Given the description of an element on the screen output the (x, y) to click on. 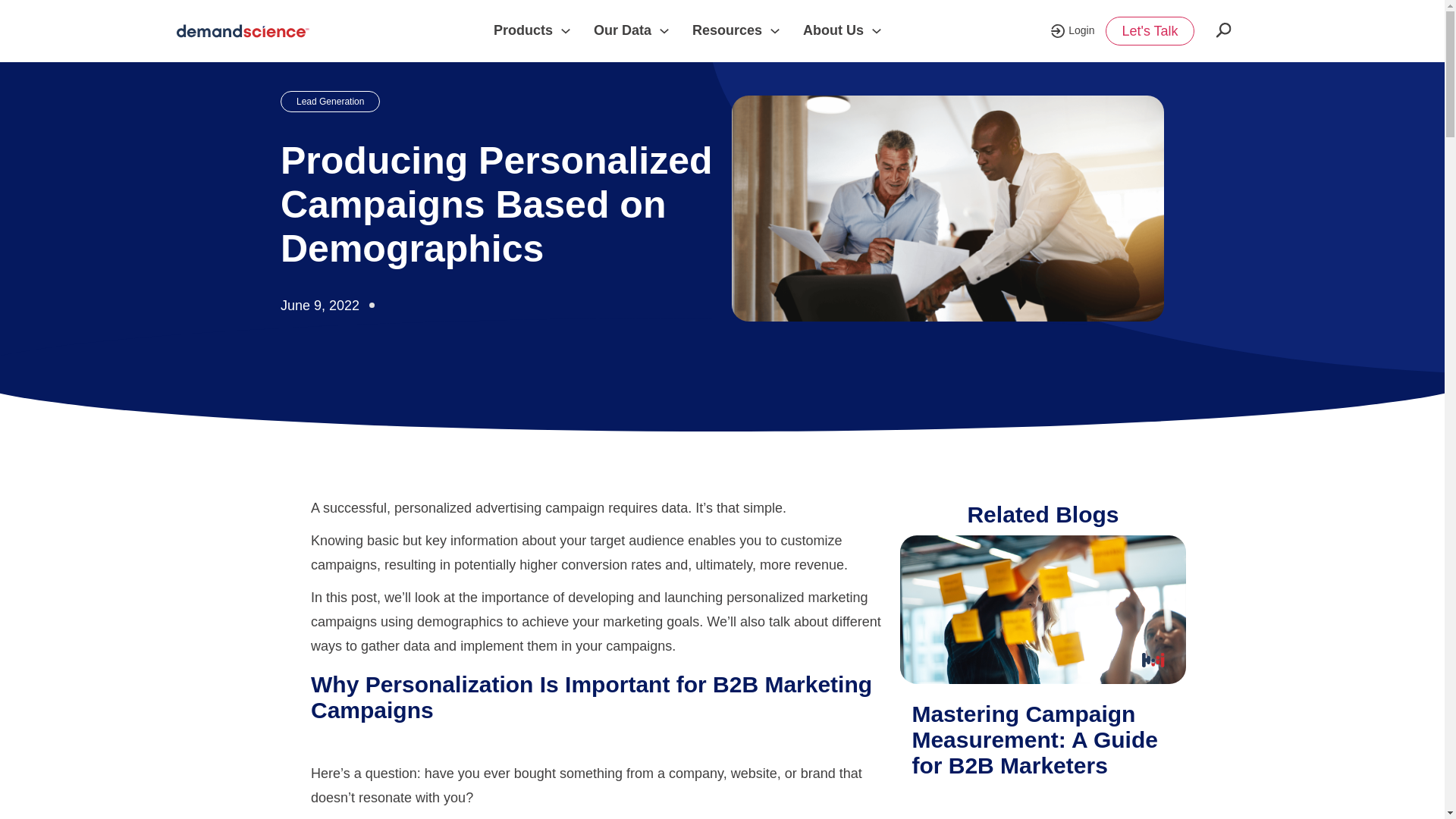
Products (523, 30)
Mastering Campaign Measurement: A Guide for B2B Marketers (1042, 611)
Lead Generation (330, 101)
Our Data (622, 30)
Resources (727, 30)
Mastering Campaign Measurement: A Guide for B2B Marketers (1034, 739)
About Us (833, 30)
